Given the description of an element on the screen output the (x, y) to click on. 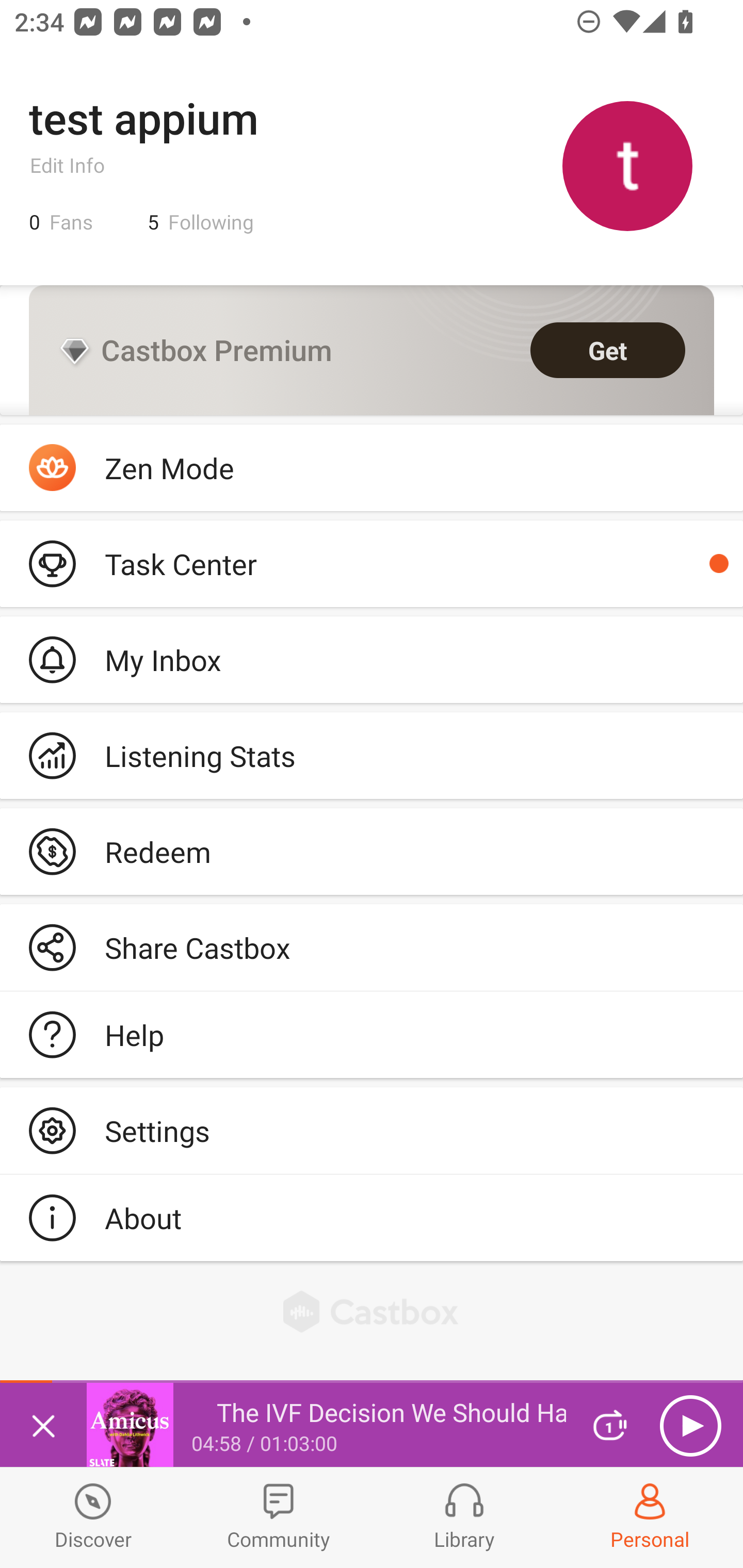
test appium Edit Info 0 Fans 5 Following (371, 165)
0 Fans (60, 221)
5 Following (200, 221)
Castbox Premium Get (371, 350)
Get (607, 350)
Zen Mode (371, 467)
Podcaster  Task Center (371, 563)
 My Inbox (371, 659)
 Listening Stats (371, 755)
 Redeem (371, 851)
 Share Castbox (371, 947)
 Help (371, 1034)
 Settings (371, 1130)
 About (371, 1217)
Play (690, 1425)
Discover (92, 1517)
Community (278, 1517)
Library (464, 1517)
Profiles and Settings Personal (650, 1517)
